Given the description of an element on the screen output the (x, y) to click on. 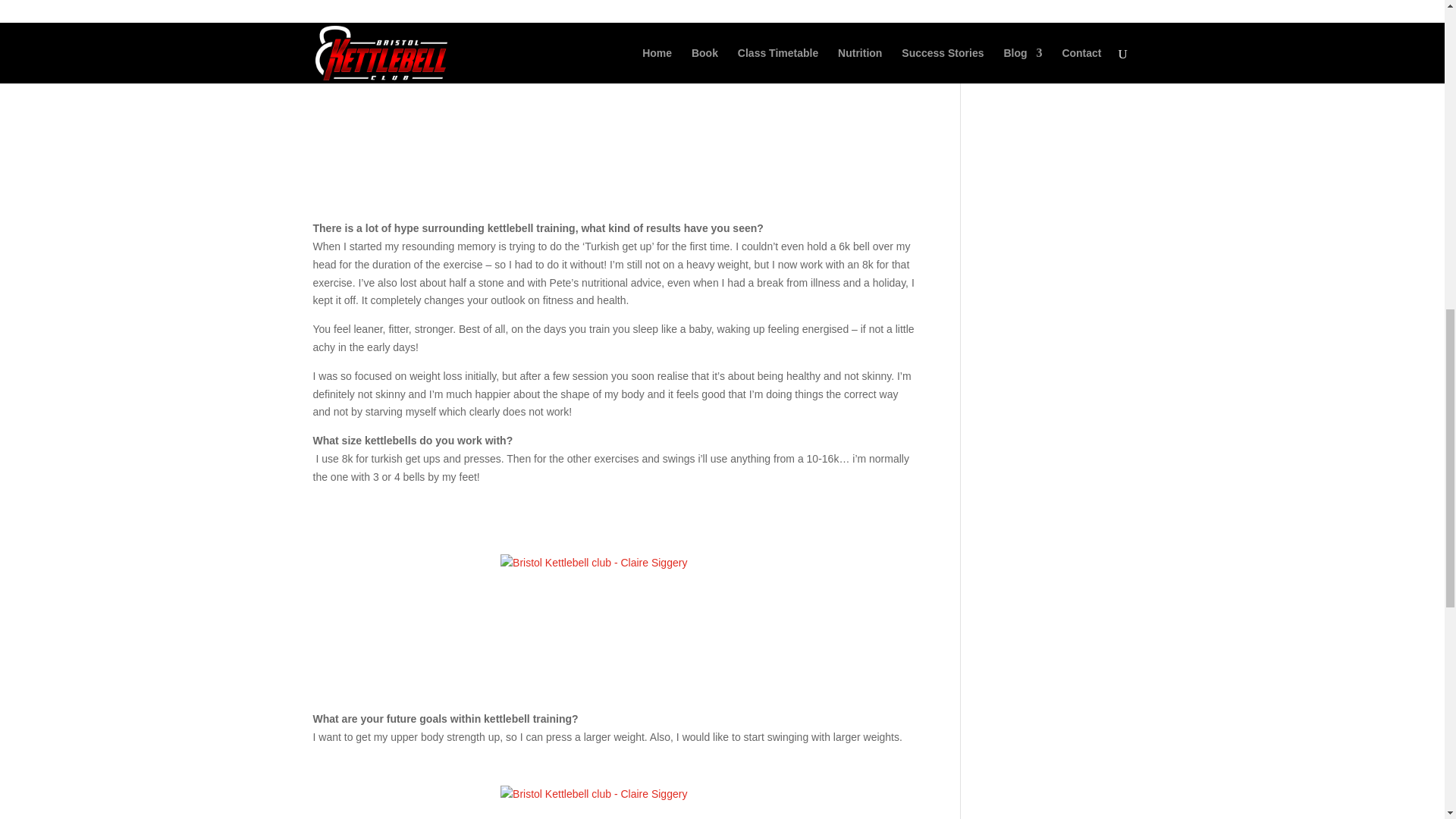
Bristol Kettlebell club - Claire Siggery (614, 802)
Bristol Kettlebell club - Claire Siggery (614, 617)
Bristol Kettlebell club - Claire Siggery (614, 126)
